Given the description of an element on the screen output the (x, y) to click on. 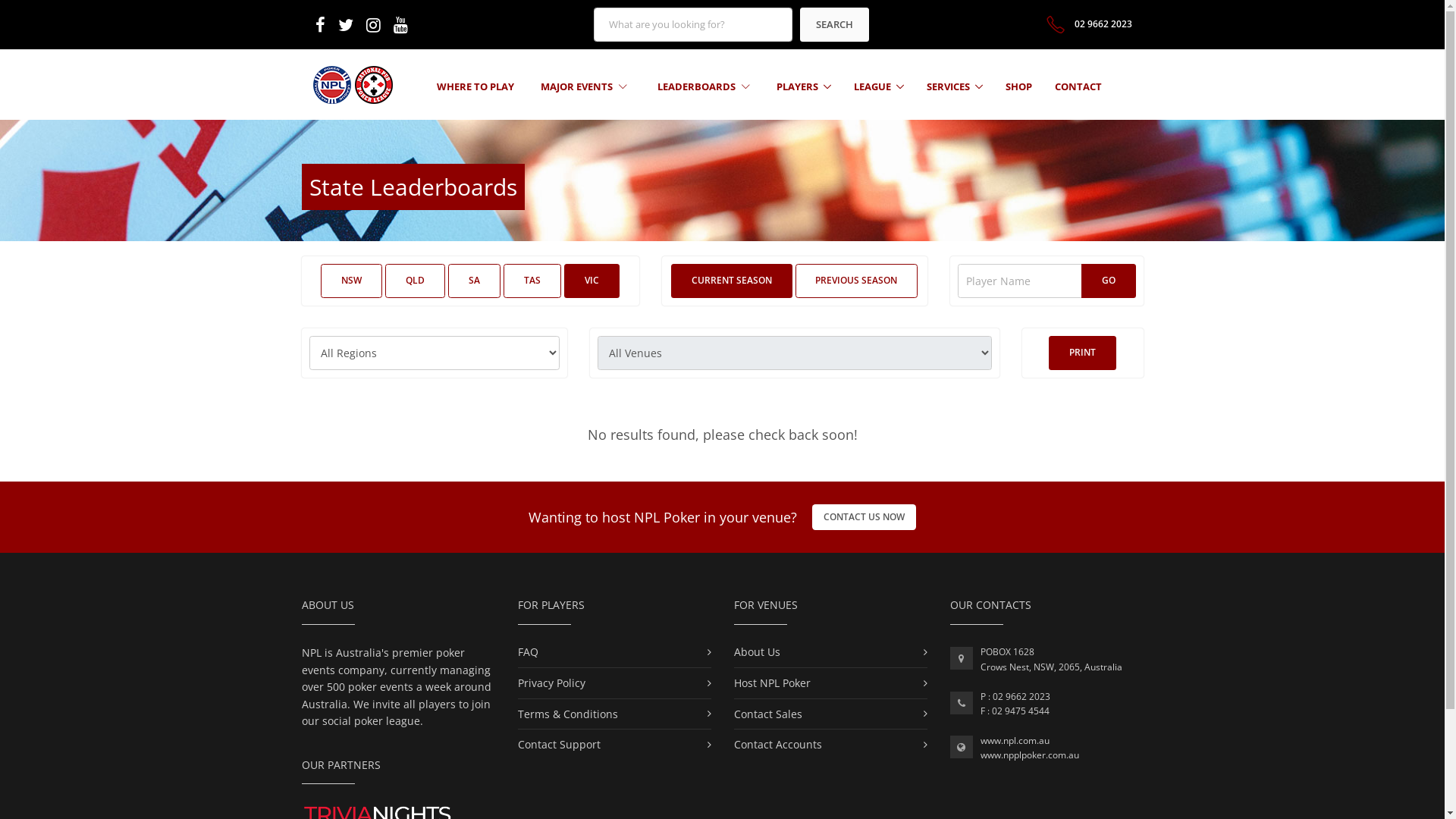
SERVICES Element type: text (954, 86)
MAJOR EVENTS Element type: text (583, 86)
CURRENT SEASON Element type: text (731, 280)
www.npplpoker.com.au Element type: text (1028, 754)
PREVIOUS SEASON Element type: text (855, 280)
www.npl.com.au Element type: text (1013, 740)
TAS Element type: text (532, 280)
PRINT Element type: text (1082, 352)
Contact Sales Element type: text (768, 713)
SEARCH Element type: text (834, 24)
Privacy Policy Element type: text (550, 682)
NSW Element type: text (351, 280)
VIC Element type: text (591, 280)
Contact Accounts Element type: text (778, 744)
LEAGUE Element type: text (878, 86)
SA Element type: text (474, 280)
WHERE TO PLAY Element type: text (475, 86)
Terms & Conditions Element type: text (567, 713)
FAQ Element type: text (527, 651)
Contact Support Element type: text (558, 744)
Go Element type: text (1108, 280)
CONTACT Element type: text (1077, 86)
QLD Element type: text (415, 280)
PLAYERS Element type: text (803, 86)
CONTACT US NOW Element type: text (864, 516)
About Us Element type: text (757, 651)
Host NPL Poker Element type: text (772, 682)
LEADERBOARDS Element type: text (703, 86)
SHOP Element type: text (1018, 86)
